Given the description of an element on the screen output the (x, y) to click on. 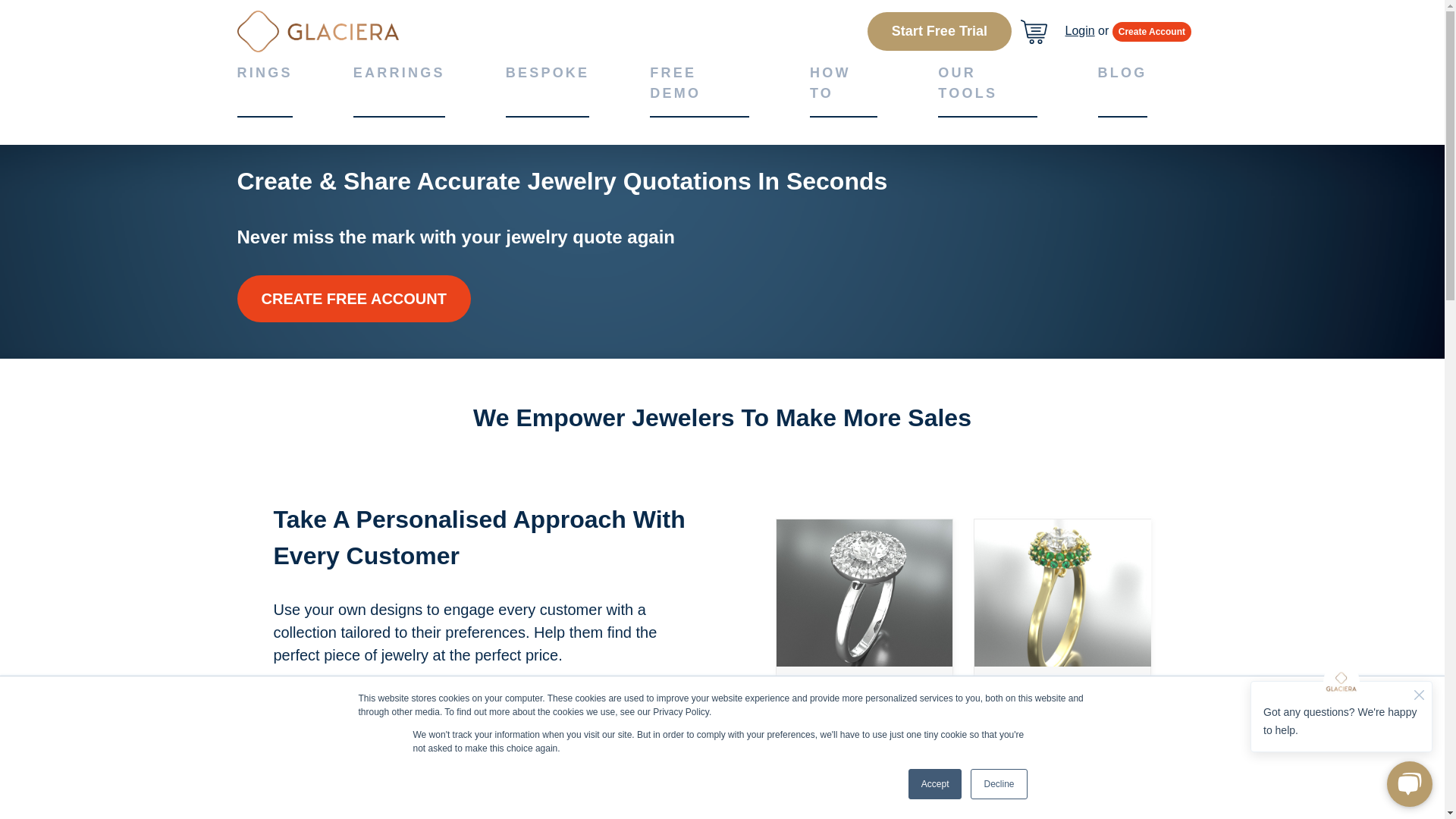
Learn more about collections (384, 695)
Decline (998, 784)
Login (1079, 30)
Start Free Trial (939, 31)
BLOG (1122, 76)
FREE DEMO (699, 86)
Accept (935, 784)
RINGS (263, 76)
CREATE FREE ACCOUNT (352, 298)
Create Account (1151, 30)
